Given the description of an element on the screen output the (x, y) to click on. 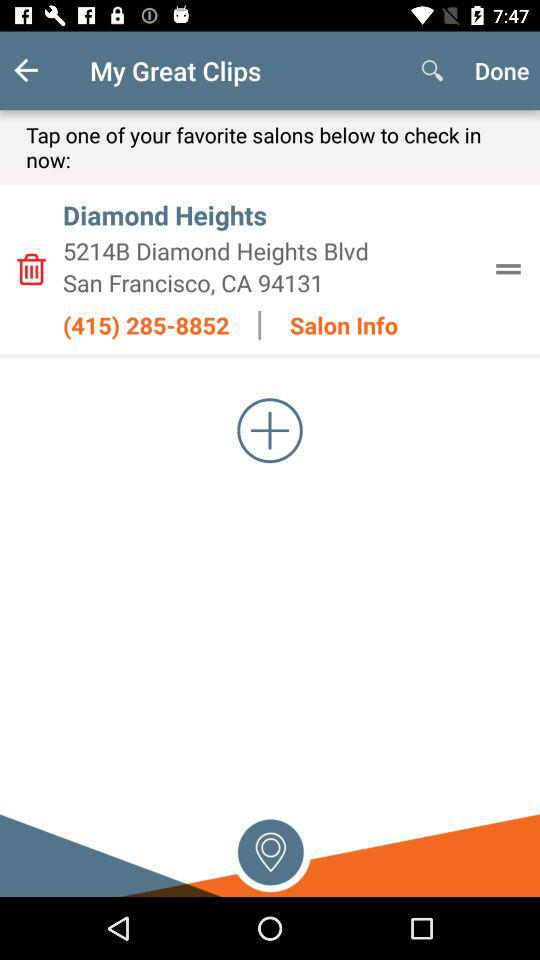
turn on san francisco ca item (269, 282)
